Given the description of an element on the screen output the (x, y) to click on. 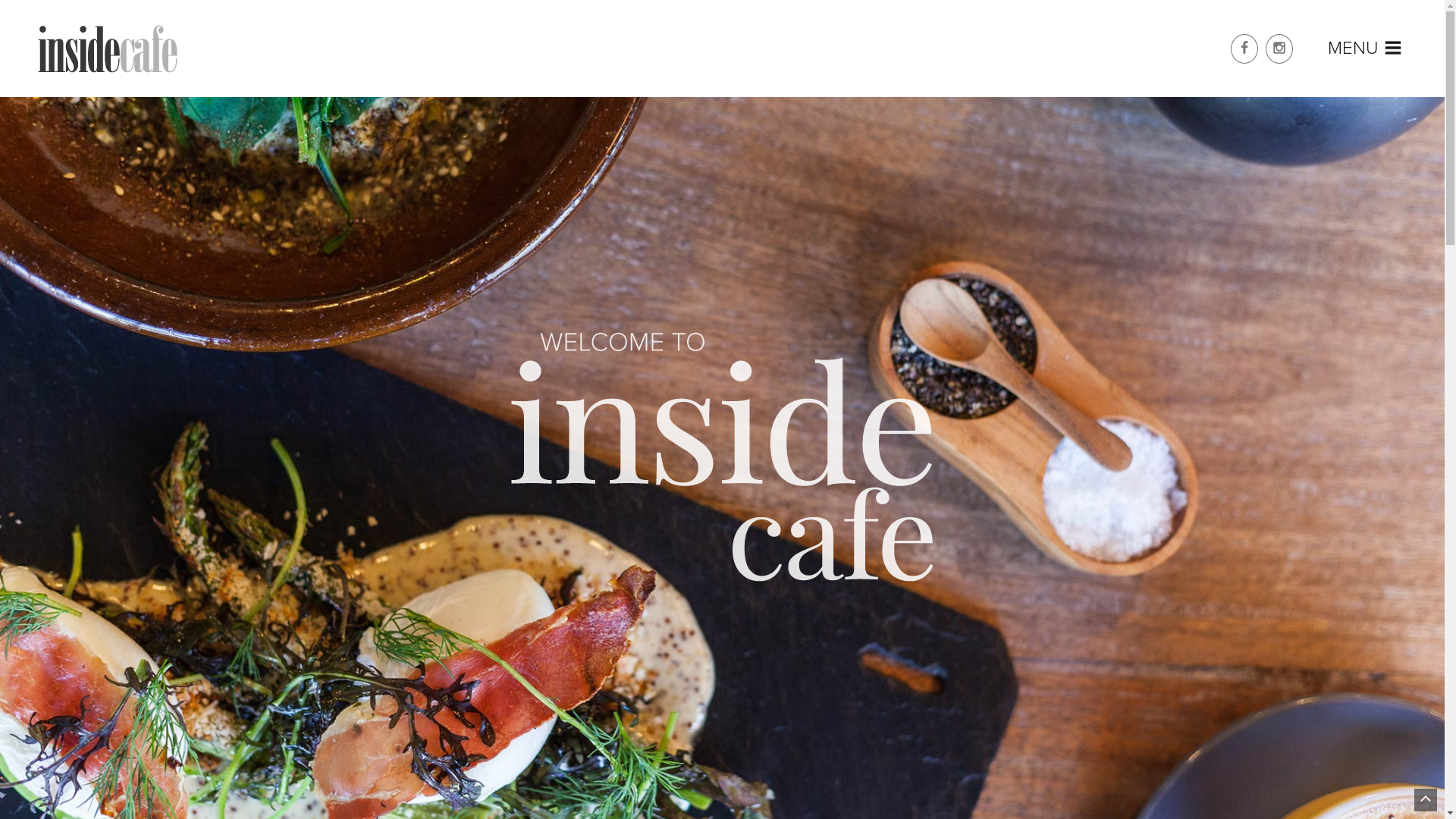
MENU Element type: text (1364, 49)
